Given the description of an element on the screen output the (x, y) to click on. 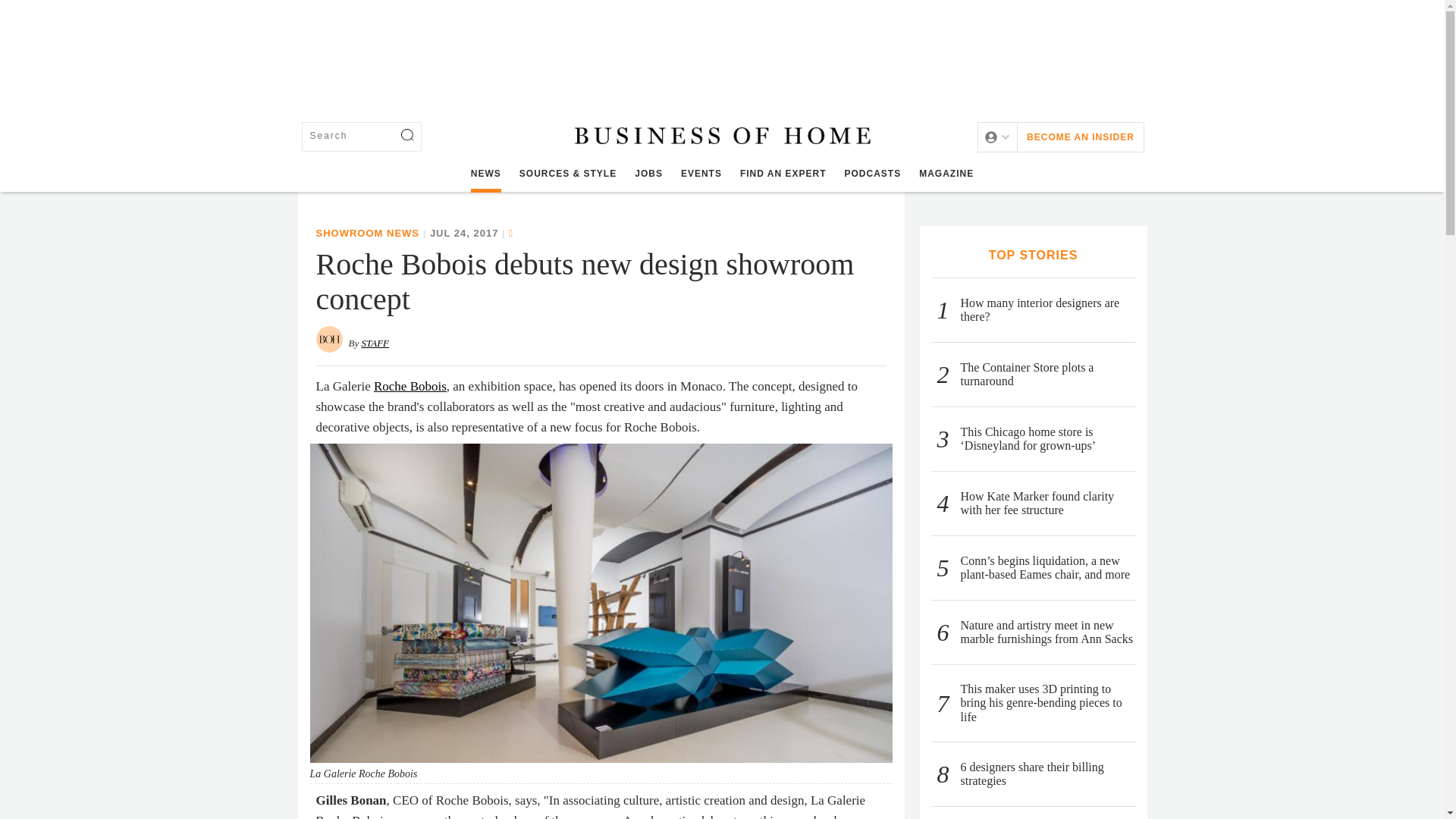
NEWS (485, 173)
